Given the description of an element on the screen output the (x, y) to click on. 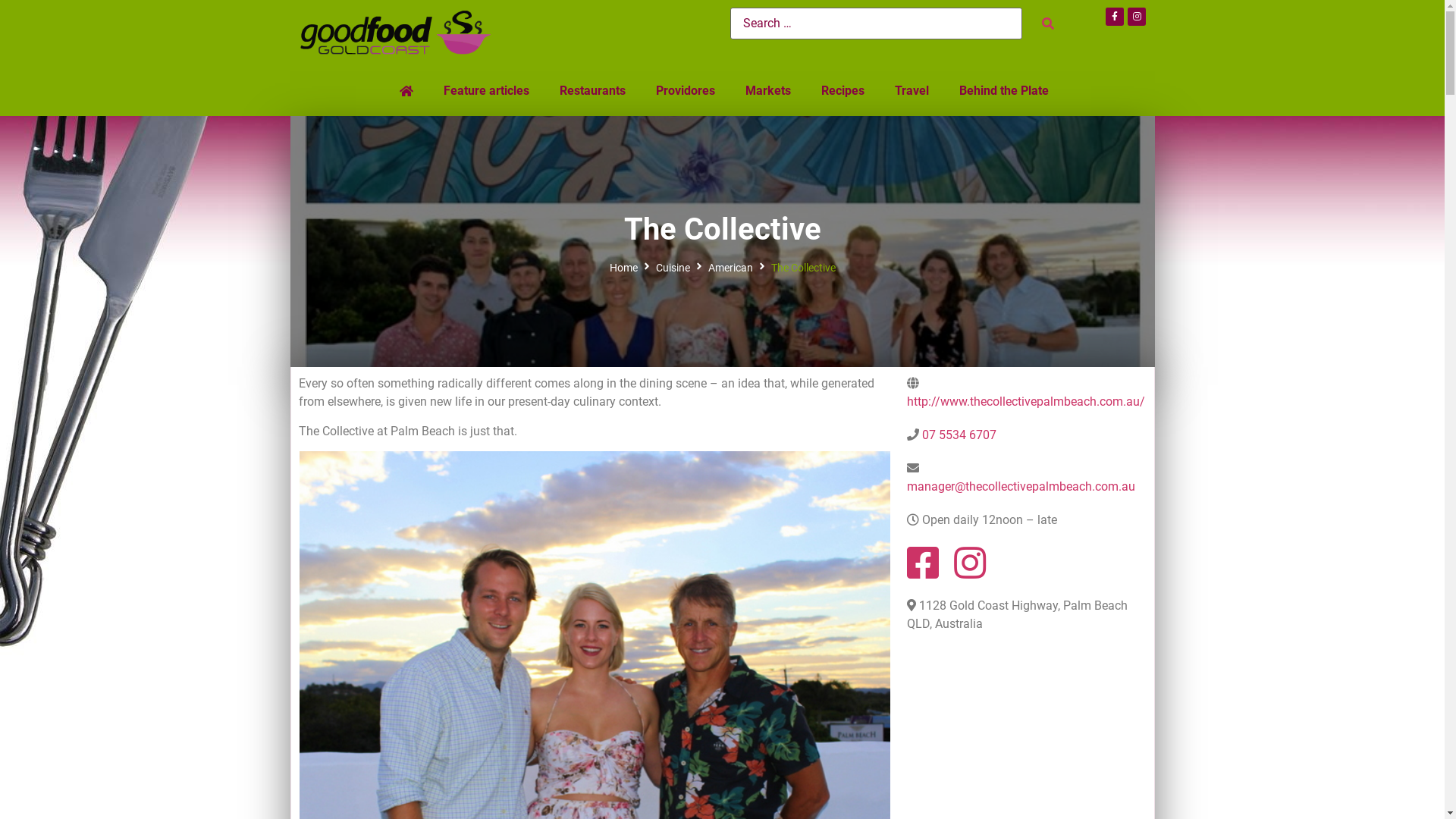
Feature articles Element type: text (485, 90)
Markets Element type: text (767, 90)
American Element type: text (730, 268)
Travel Element type: text (911, 90)
manager@thecollectivepalmbeach.com.au Element type: text (1020, 486)
07 5534 6707 Element type: text (959, 434)
Home Element type: text (623, 268)
Recipes Element type: text (841, 90)
http://www.thecollectivepalmbeach.com.au/ Element type: text (1025, 401)
Restaurants Element type: text (592, 90)
  Element type: text (403, 90)
Cuisine Element type: text (672, 268)
Providores Element type: text (684, 90)
Behind the Plate Element type: text (1003, 90)
